Given the description of an element on the screen output the (x, y) to click on. 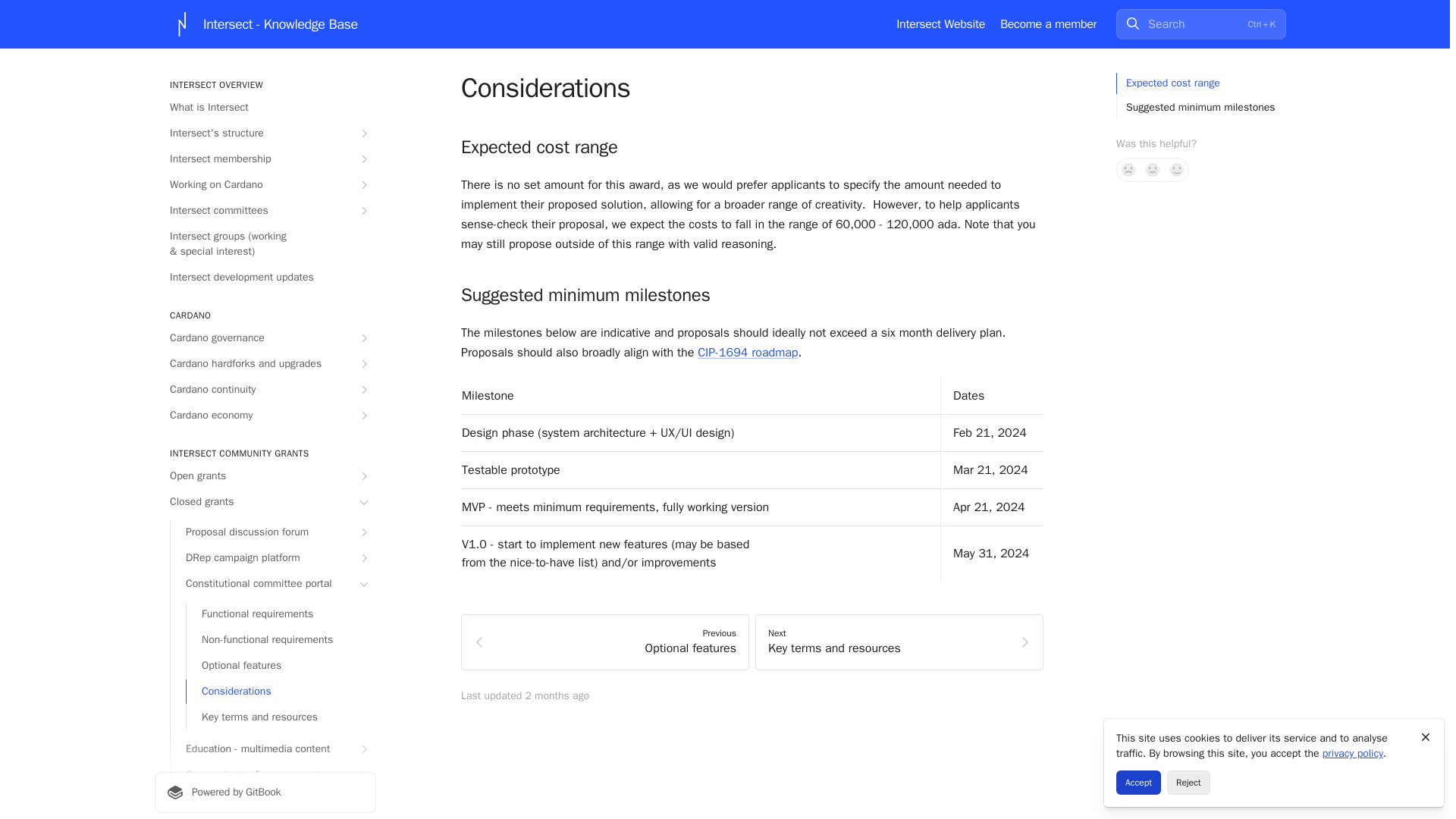
Intersect committees (264, 210)
Intersect Website (940, 24)
Intersect's structure (264, 133)
Intersect - Knowledge Base (264, 24)
Close (1425, 737)
What is Intersect (264, 107)
Working on Cardano (264, 184)
No (1128, 169)
Become a member (1048, 24)
Not sure (1152, 169)
